Given the description of an element on the screen output the (x, y) to click on. 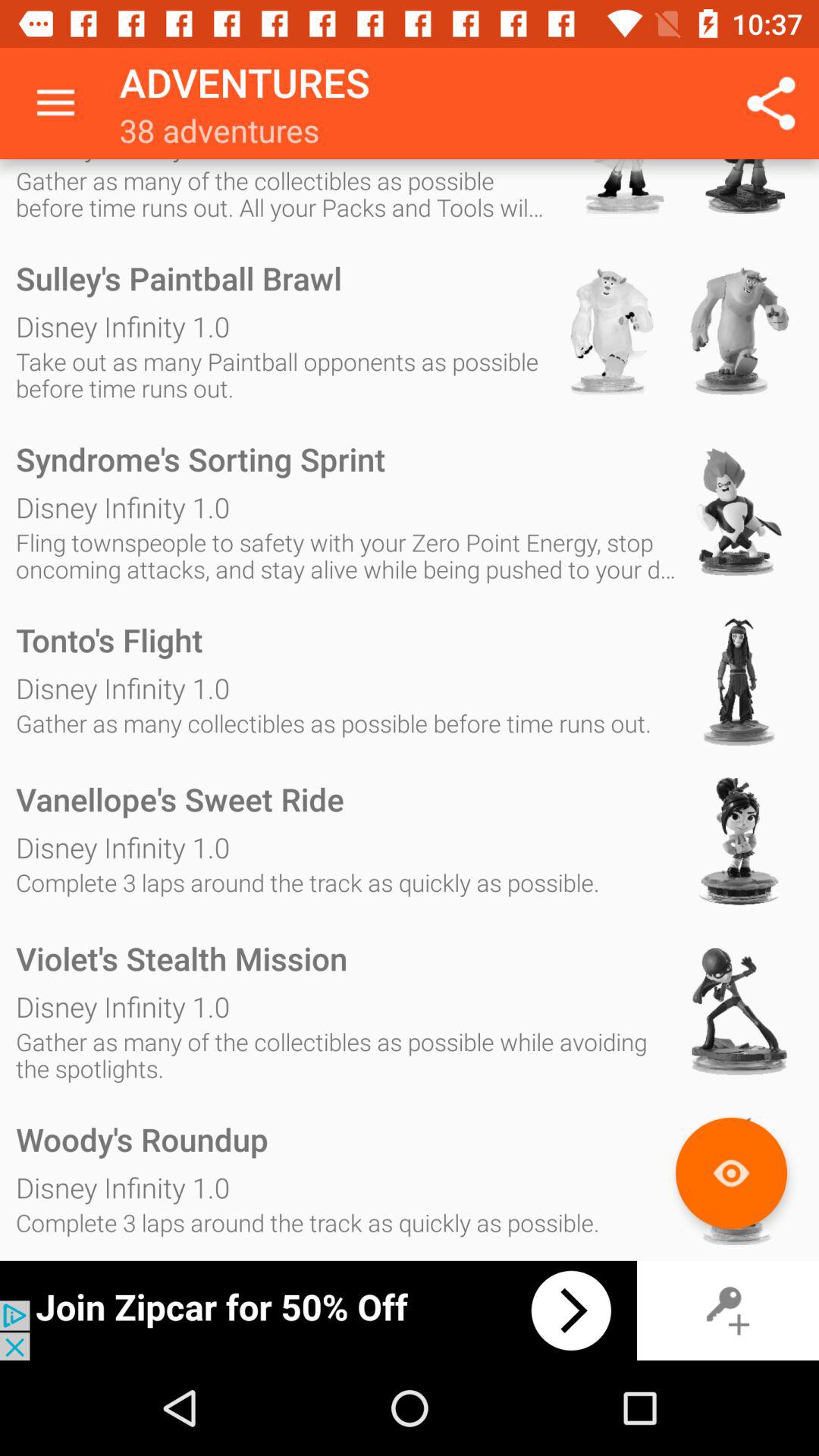
advertisement for discounted sign up for zipcar (318, 1310)
